Given the description of an element on the screen output the (x, y) to click on. 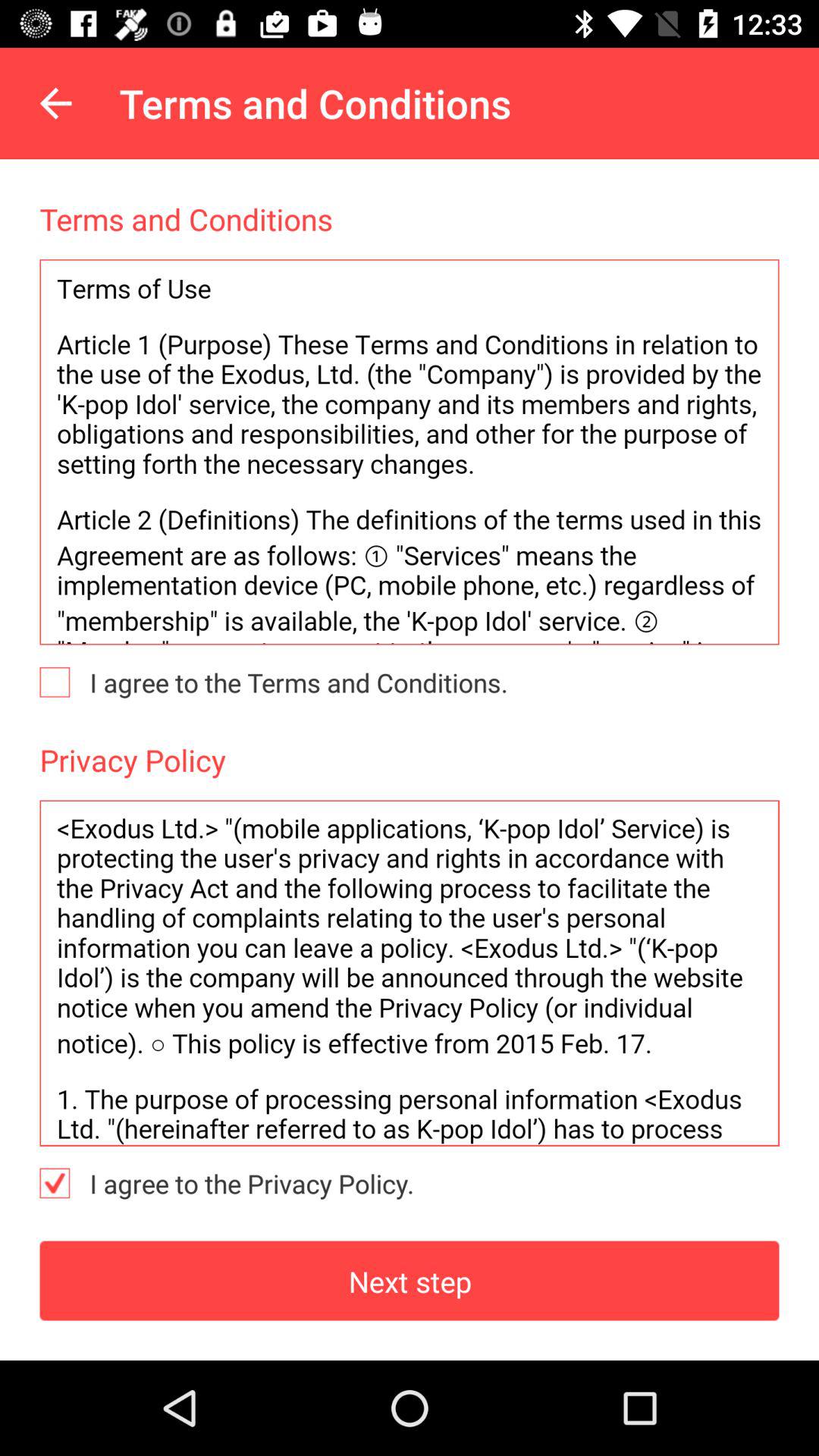
terms and condition area (409, 452)
